Given the description of an element on the screen output the (x, y) to click on. 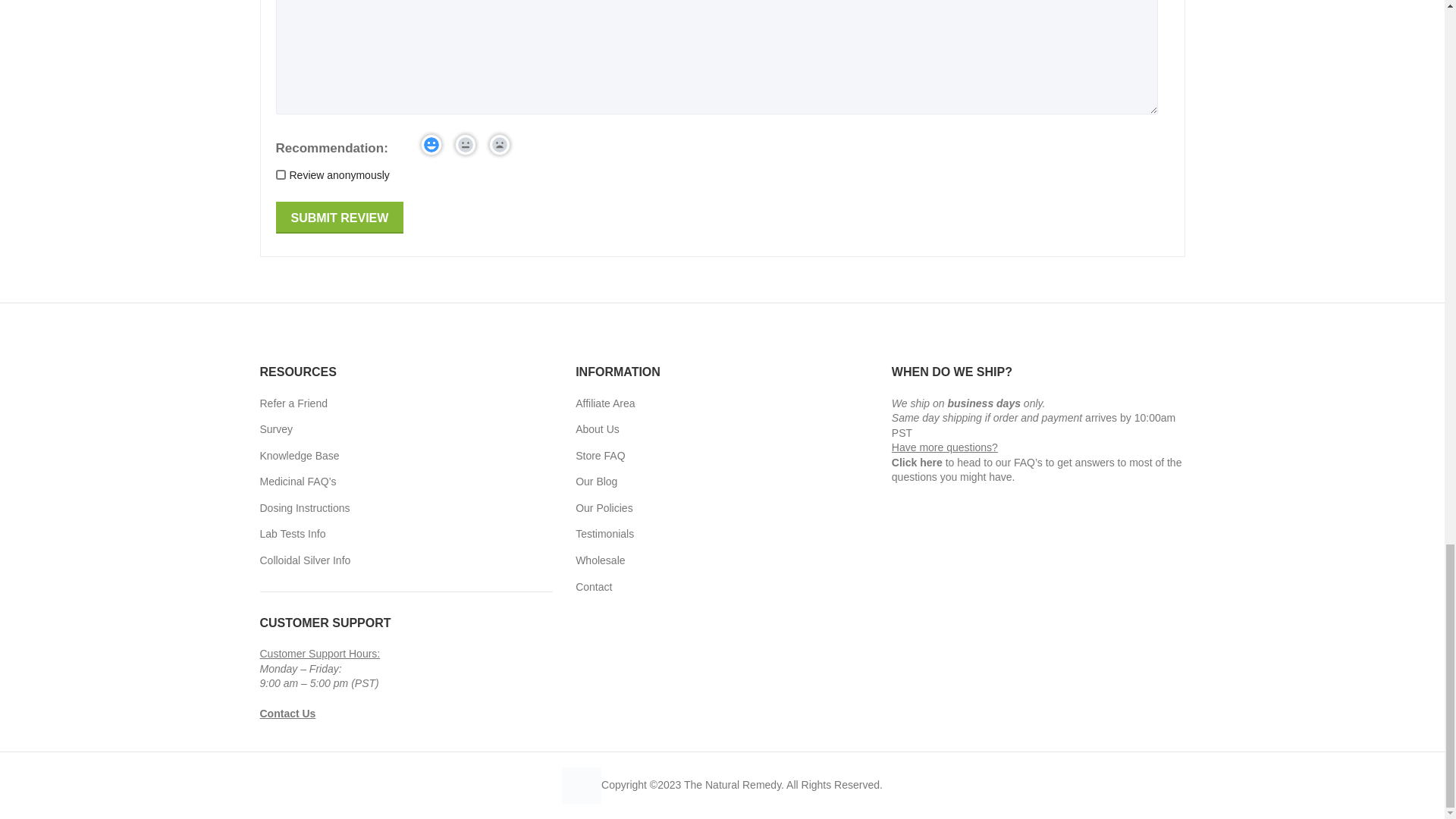
Submit Review (340, 217)
